Given the description of an element on the screen output the (x, y) to click on. 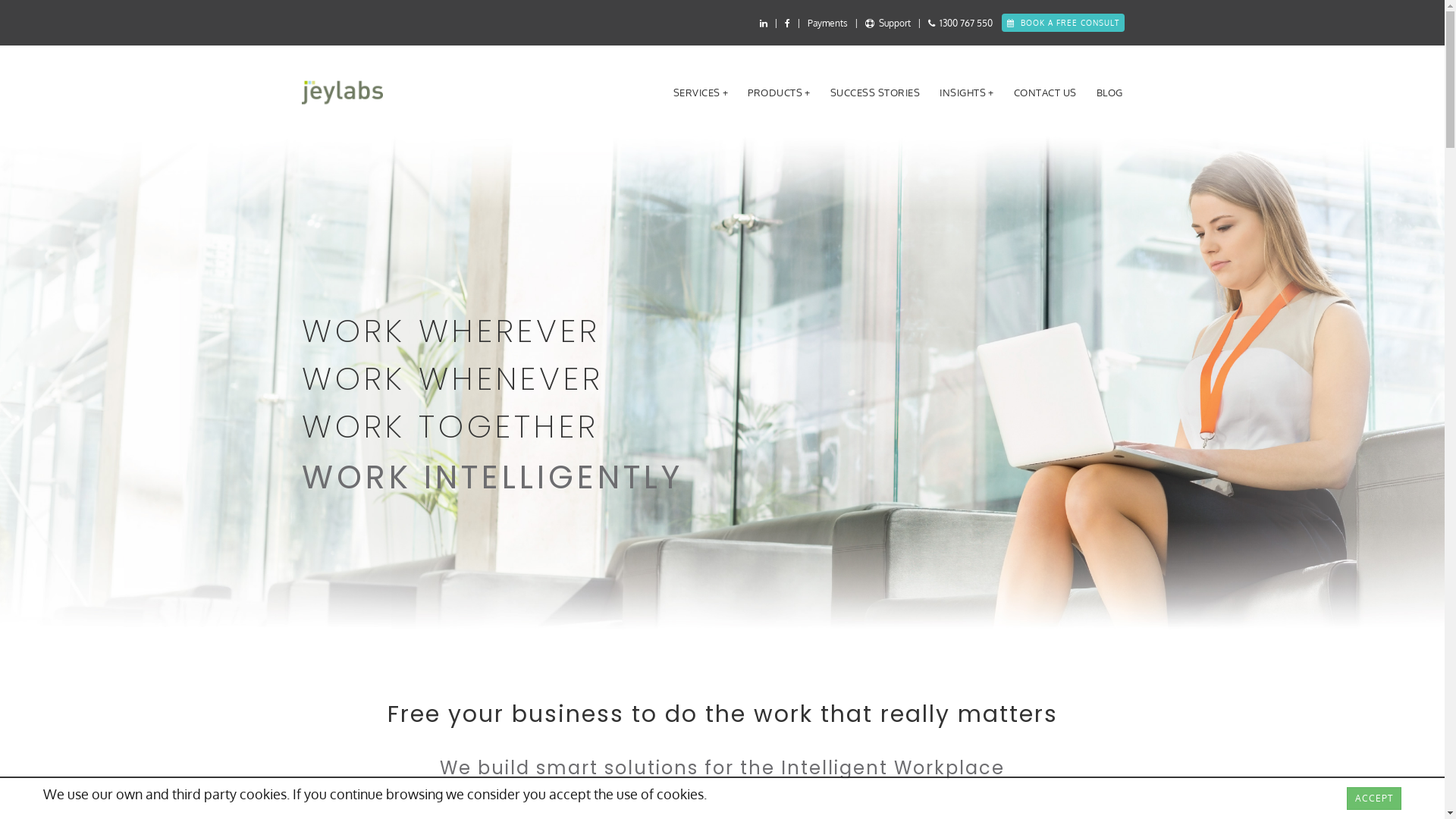
Payments Element type: text (826, 22)
PRODUCTS+ Element type: text (778, 92)
jeylabs LinkedIn Element type: hover (763, 22)
BLOG Element type: text (1109, 92)
SUCCESS STORIES Element type: text (874, 92)
jeylabs Facebook Element type: hover (786, 22)
1300 767 550 Element type: text (964, 22)
ACCEPT Element type: text (1373, 798)
INSIGHTS+ Element type: text (966, 92)
SERVICES+ Element type: text (700, 92)
CONTACT US Element type: text (1044, 92)
  Support Element type: text (887, 22)
  BOOK A FREE CONSULT Element type: text (1062, 22)
